Given the description of an element on the screen output the (x, y) to click on. 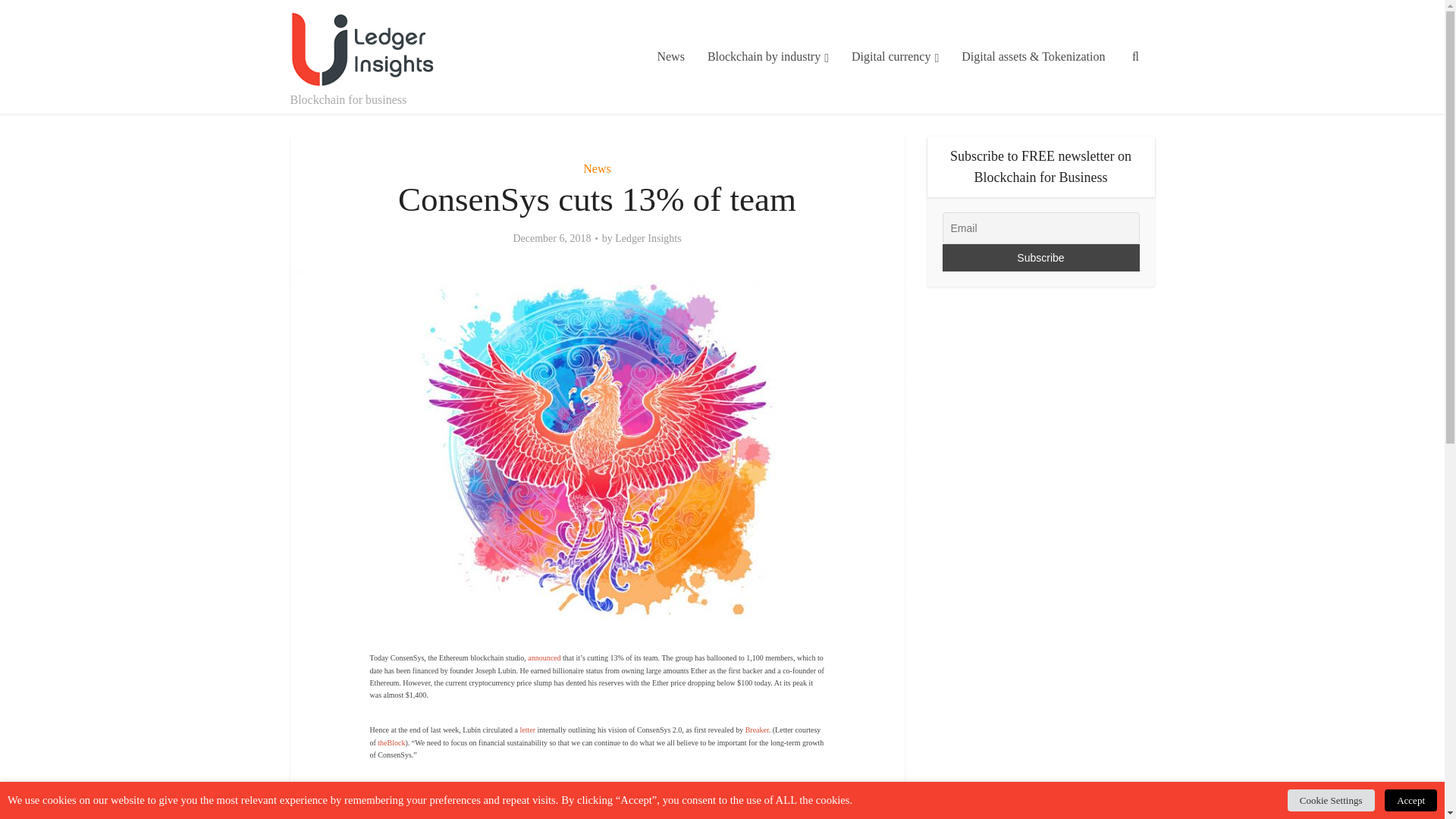
Blockchain by industry (767, 56)
Digital currency (895, 56)
Subscribe (1040, 257)
